Given the description of an element on the screen output the (x, y) to click on. 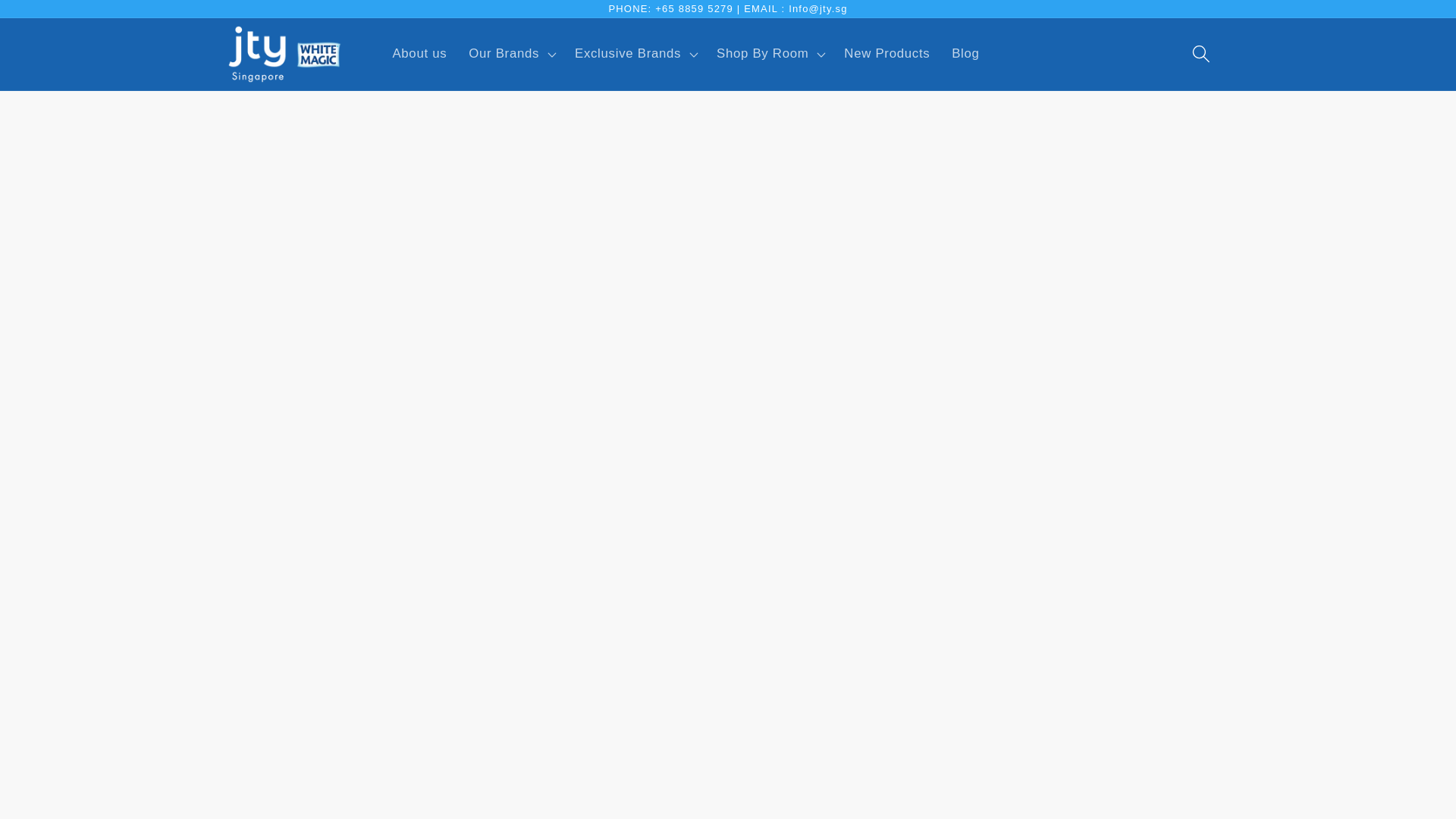
Skip to content (55, 20)
About us (419, 53)
